Given the description of an element on the screen output the (x, y) to click on. 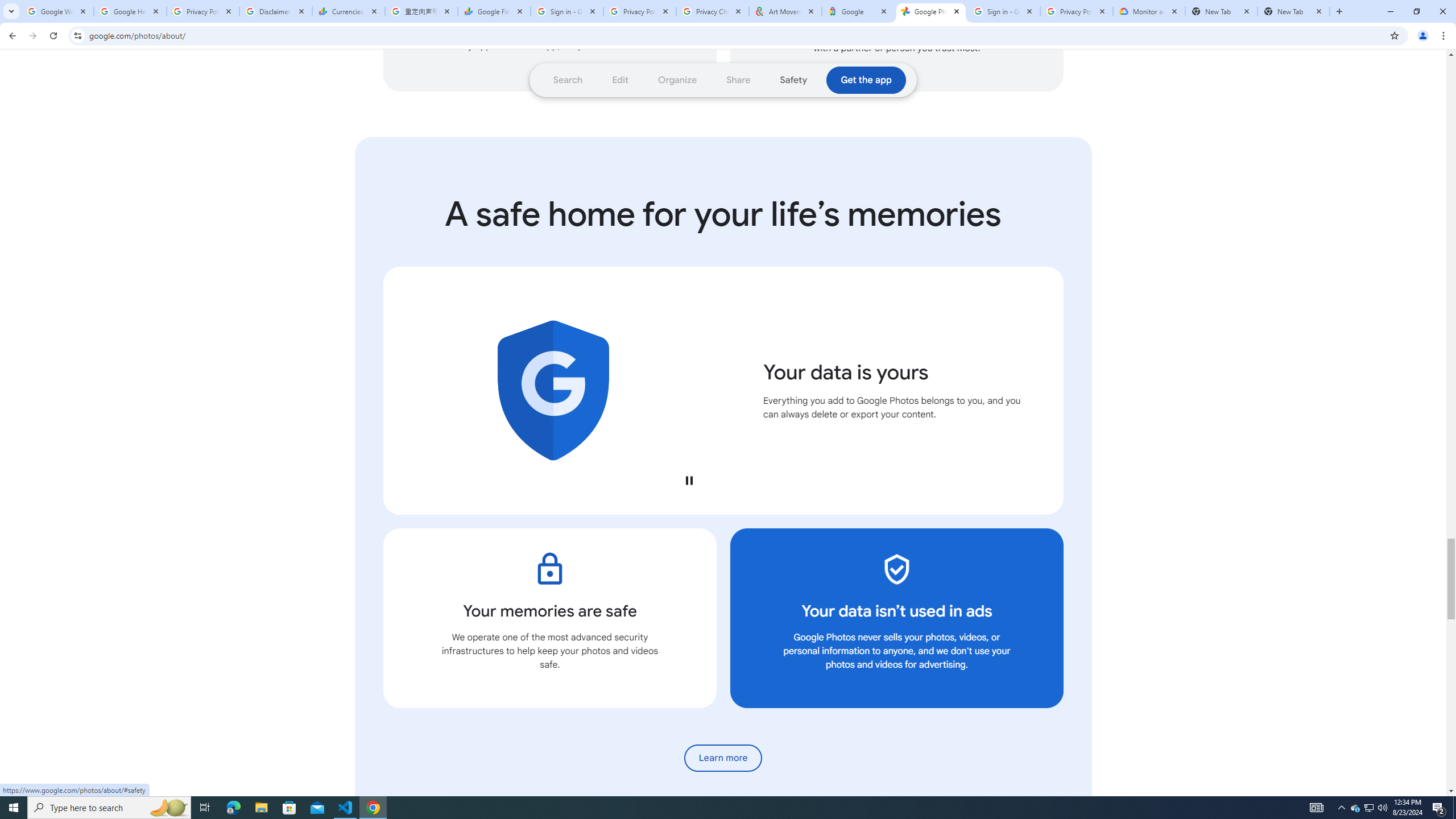
Go to section: Search (567, 80)
Currencies - Google Finance (348, 11)
Download the Google Photos app (866, 80)
New Tab (1221, 11)
Padlock icon indicating security.  (549, 568)
Sign in - Google Accounts (566, 11)
